Given the description of an element on the screen output the (x, y) to click on. 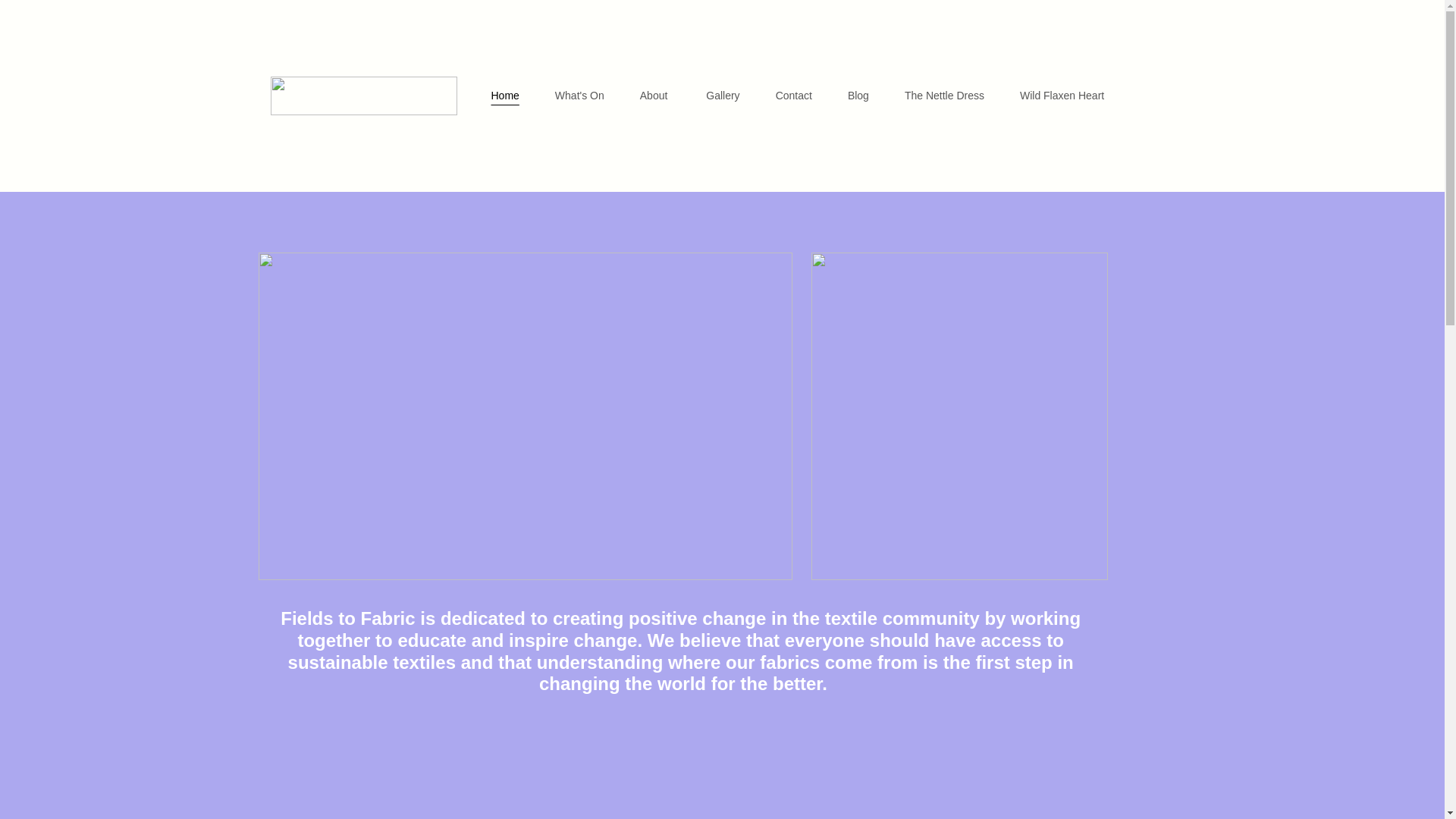
Gallery (722, 95)
Wild Flaxen Heart (1061, 95)
About  (654, 95)
Blog (858, 95)
Contact (794, 95)
The Nettle Dress (944, 95)
Home (505, 95)
What's On (579, 95)
